Given the description of an element on the screen output the (x, y) to click on. 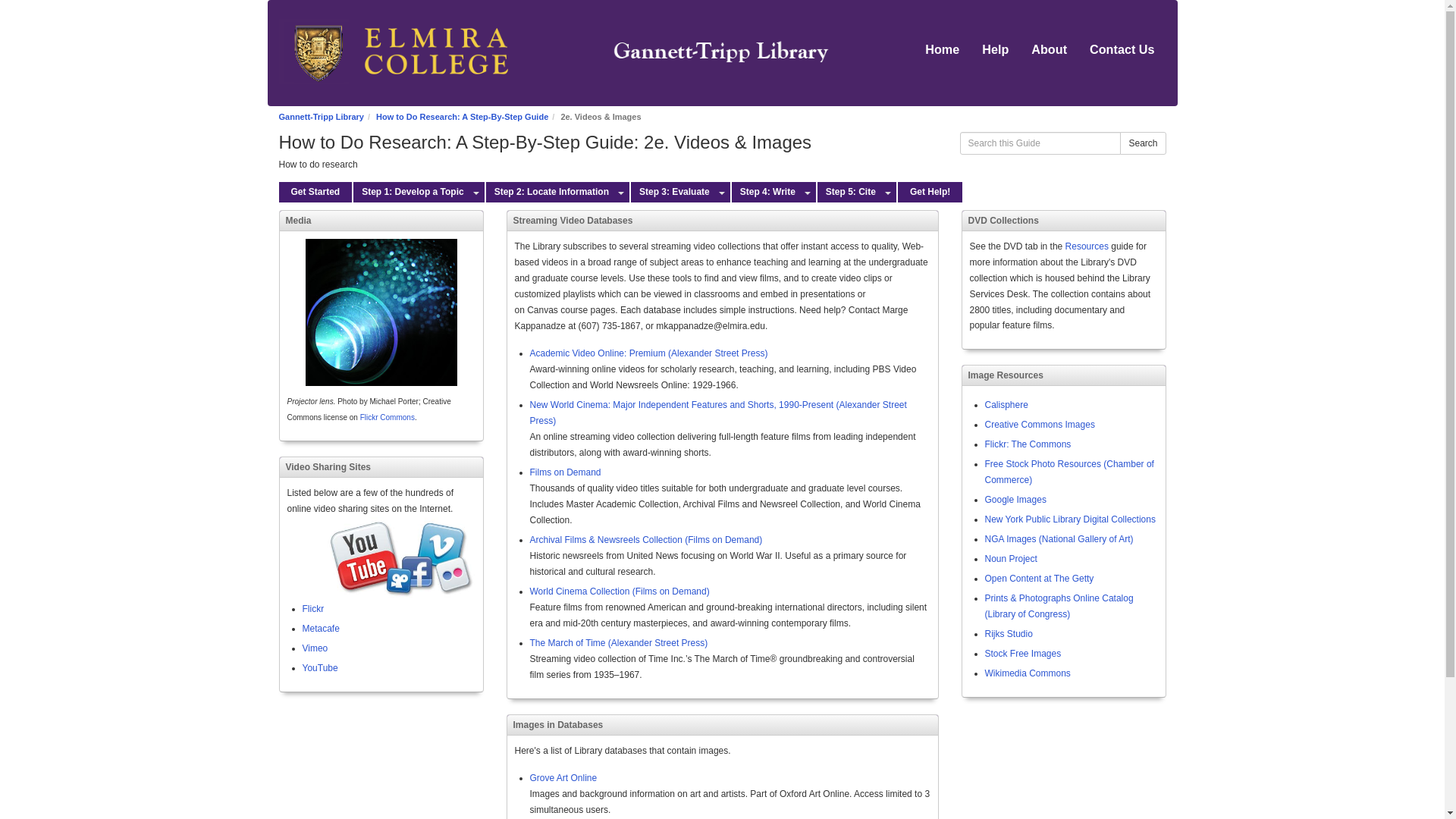
Get Started (315, 191)
Contact Us (1122, 48)
Gannett-Tripp Library (321, 116)
About (1049, 48)
Gannett-Tripp Library home (554, 52)
Step 1: Develop a Topic (410, 191)
How to Do Research: A Step-By-Step Guide (461, 116)
Search (1142, 142)
Help (995, 48)
About (1049, 48)
Step 4: Write (765, 191)
Contact Us (1122, 48)
Home (942, 48)
Help (995, 48)
Step 2: Locate Information (549, 191)
